Given the description of an element on the screen output the (x, y) to click on. 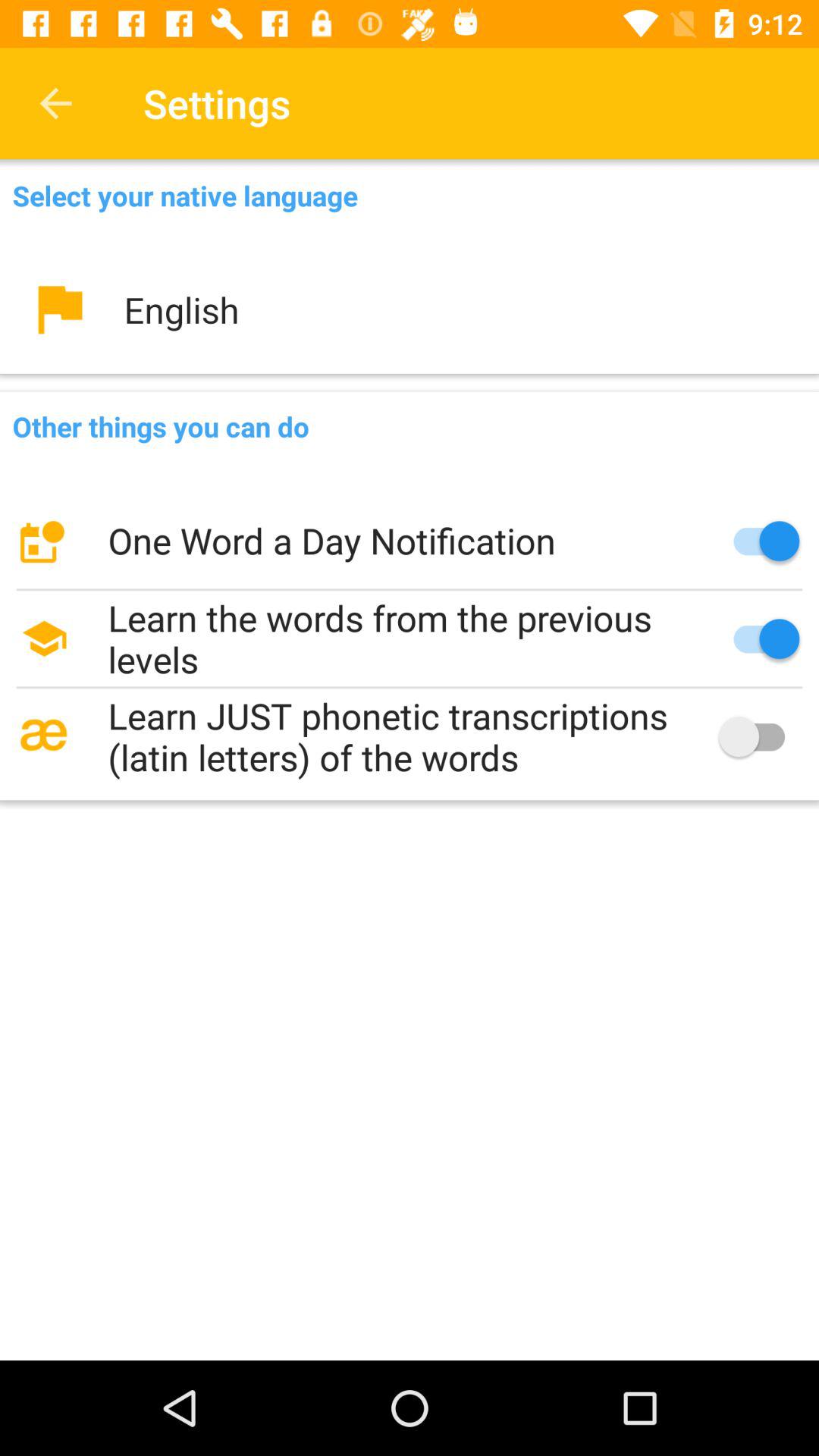
scroll to the one word a icon (409, 540)
